Given the description of an element on the screen output the (x, y) to click on. 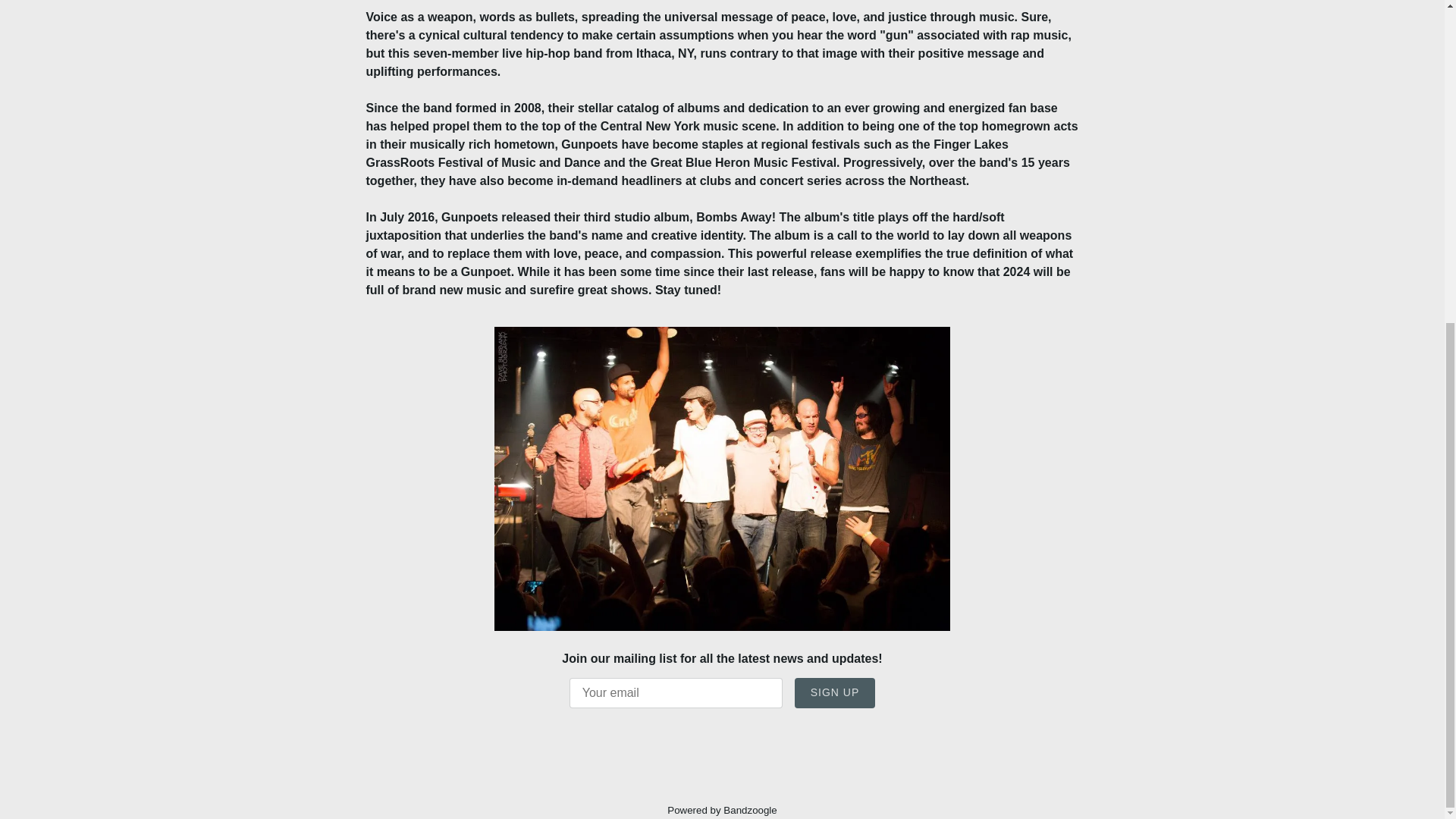
Powered by Bandzoogle (721, 809)
Powered by Bandzoogle (721, 809)
SIGN UP (835, 693)
